Given the description of an element on the screen output the (x, y) to click on. 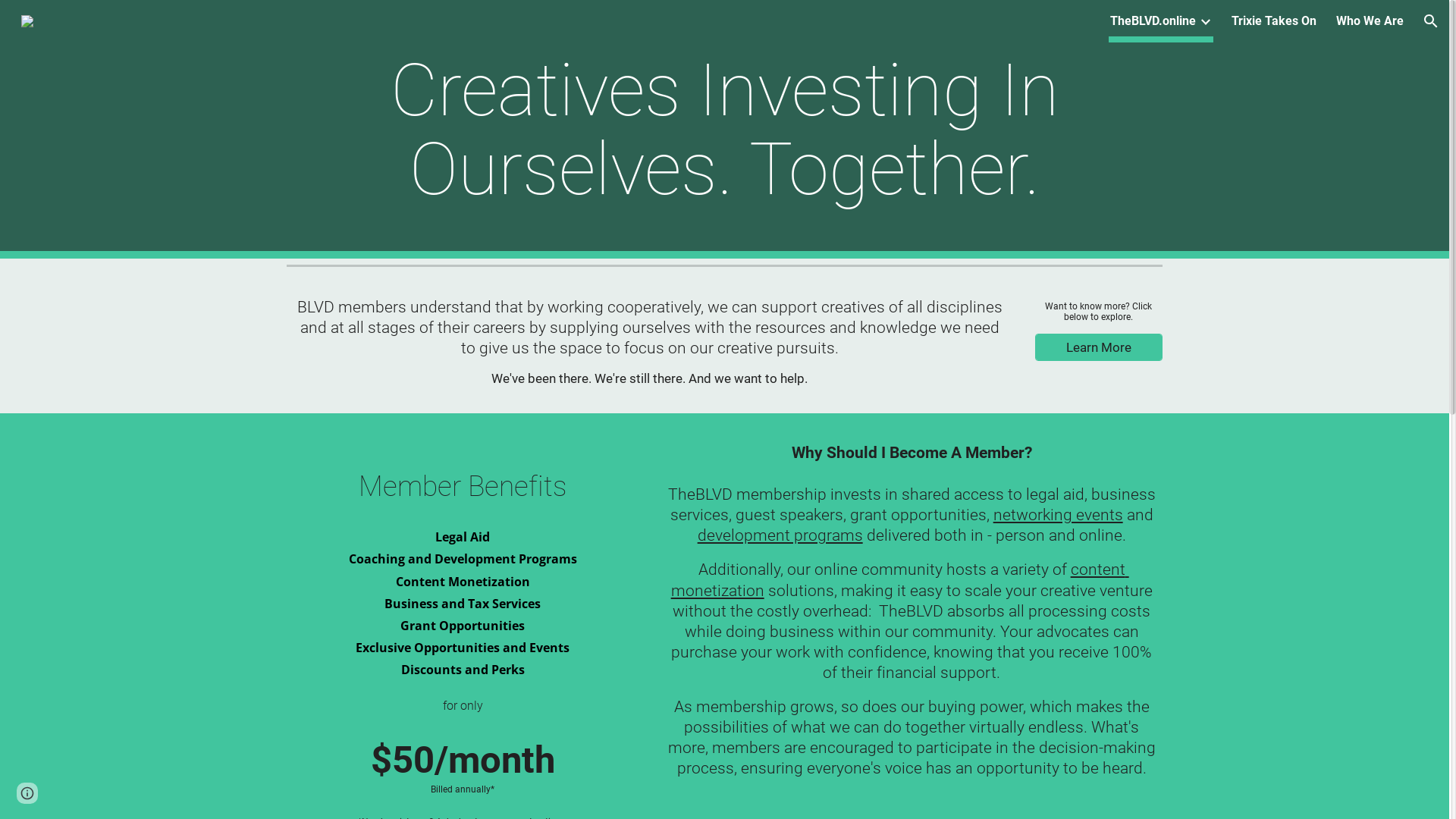
development programs Element type: text (779, 534)
Learn More Element type: text (1098, 347)
Who We Are Element type: text (1369, 20)
networking events Element type: text (1058, 514)
content monetization Element type: text (900, 579)
Expand/Collapse Element type: hover (1204, 20)
Trixie Takes On Element type: text (1273, 20)
TheBLVD.online Element type: text (1152, 20)
